Given the description of an element on the screen output the (x, y) to click on. 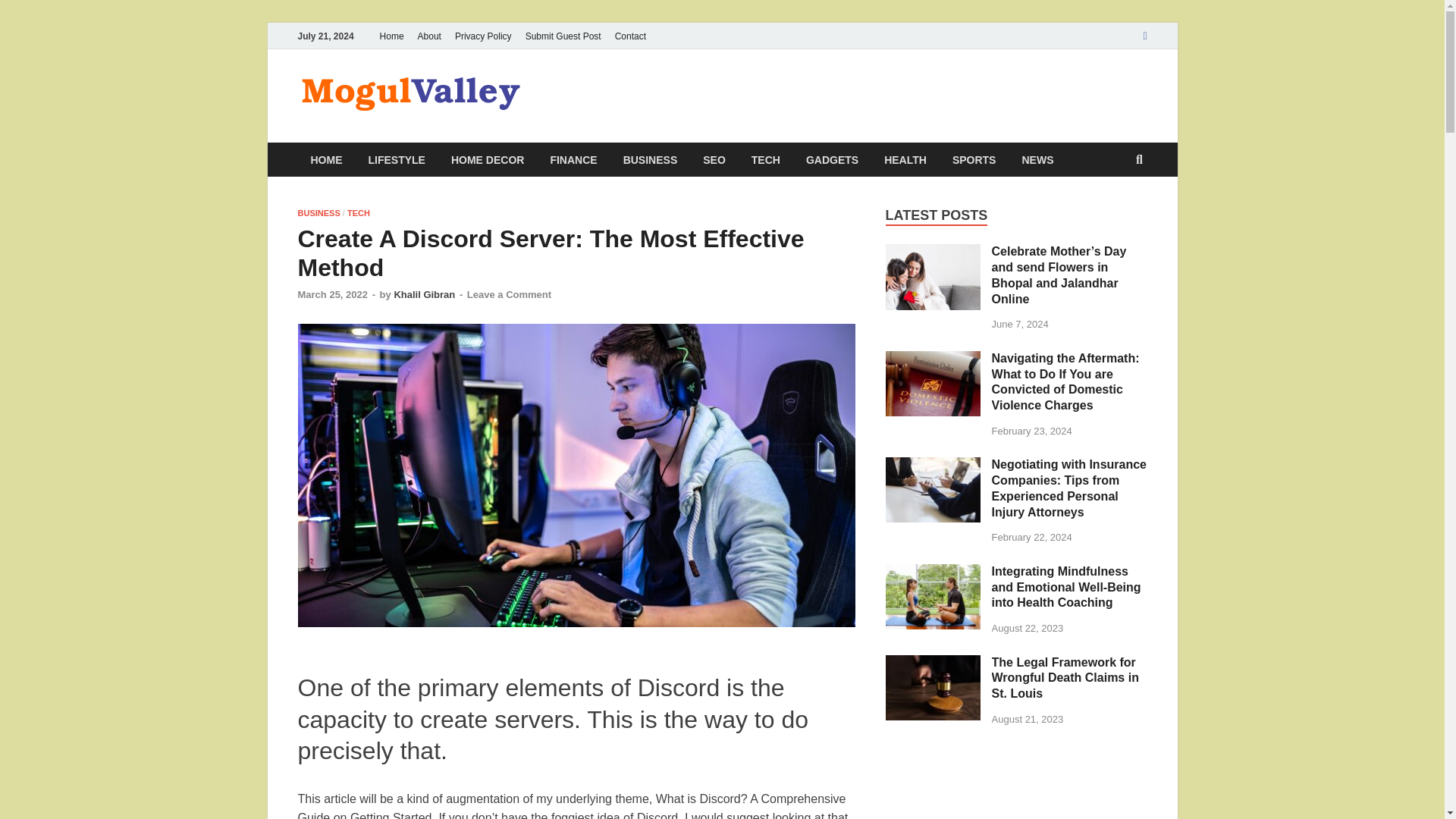
HOME (326, 159)
HOME DECOR (487, 159)
Submit Guest Post (563, 35)
TECH (765, 159)
SEO (714, 159)
Contact (630, 35)
BUSINESS (650, 159)
LIFESTYLE (396, 159)
Mogul Valley (619, 100)
About (429, 35)
SPORTS (974, 159)
NEWS (1037, 159)
GADGETS (831, 159)
FINANCE (573, 159)
